Given the description of an element on the screen output the (x, y) to click on. 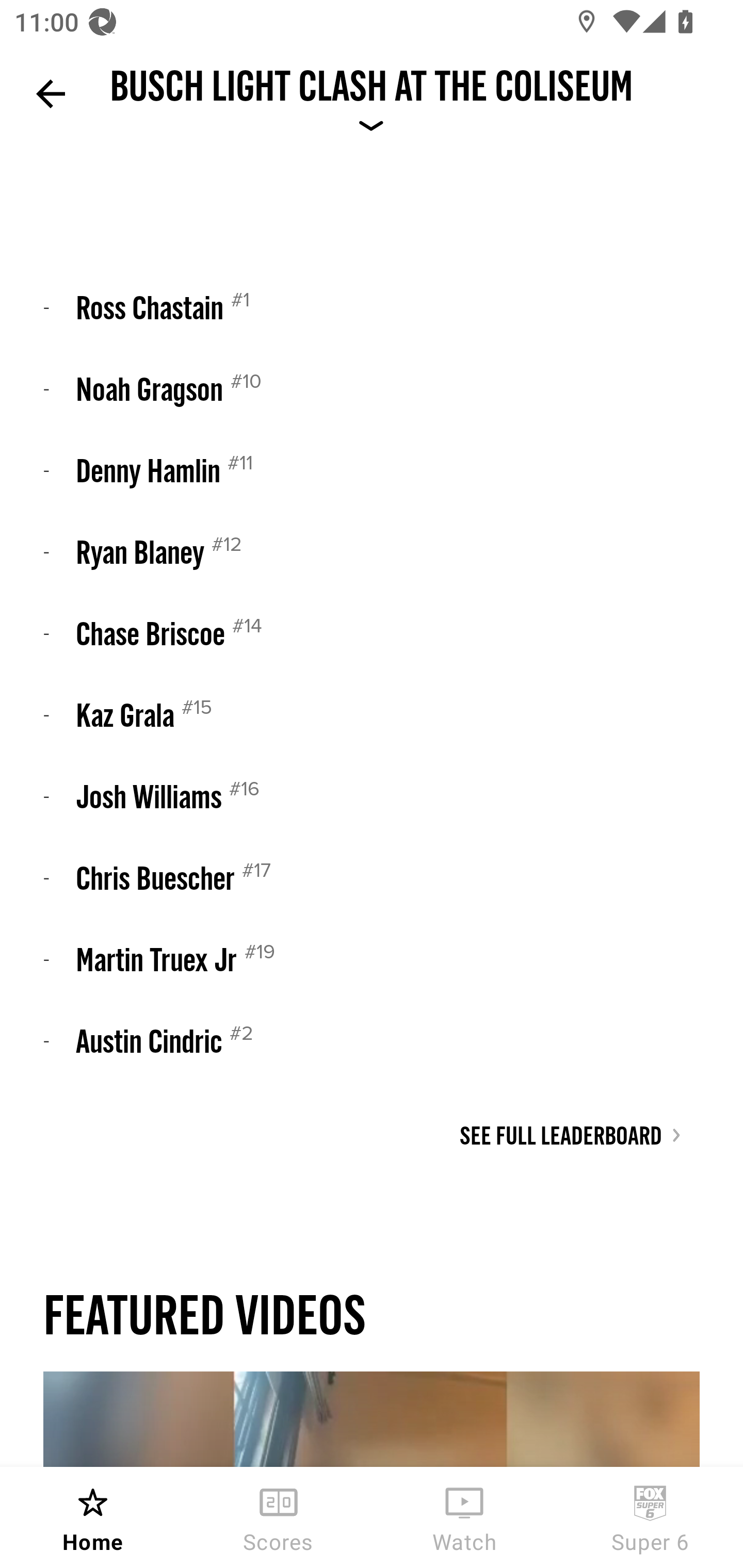
Navigate up (50, 93)
- Ross Chastain #1 (371, 307)
- Noah Gragson #10 (371, 388)
- Denny Hamlin #11 (371, 470)
- Ryan Blaney #12 (371, 551)
- Chase Briscoe #14 (371, 632)
- Kaz Grala #15 (371, 714)
- Josh Williams #16 (371, 795)
- Chris Buescher #17 (371, 877)
- Martin Truex Jr #19 (371, 958)
- Austin Cindric #2 (371, 1040)
SEE FULL LEADERBOARD (571, 1135)
FEATURED VIDEOS (204, 1313)
Scores (278, 1517)
Watch (464, 1517)
Super 6 (650, 1517)
